Given the description of an element on the screen output the (x, y) to click on. 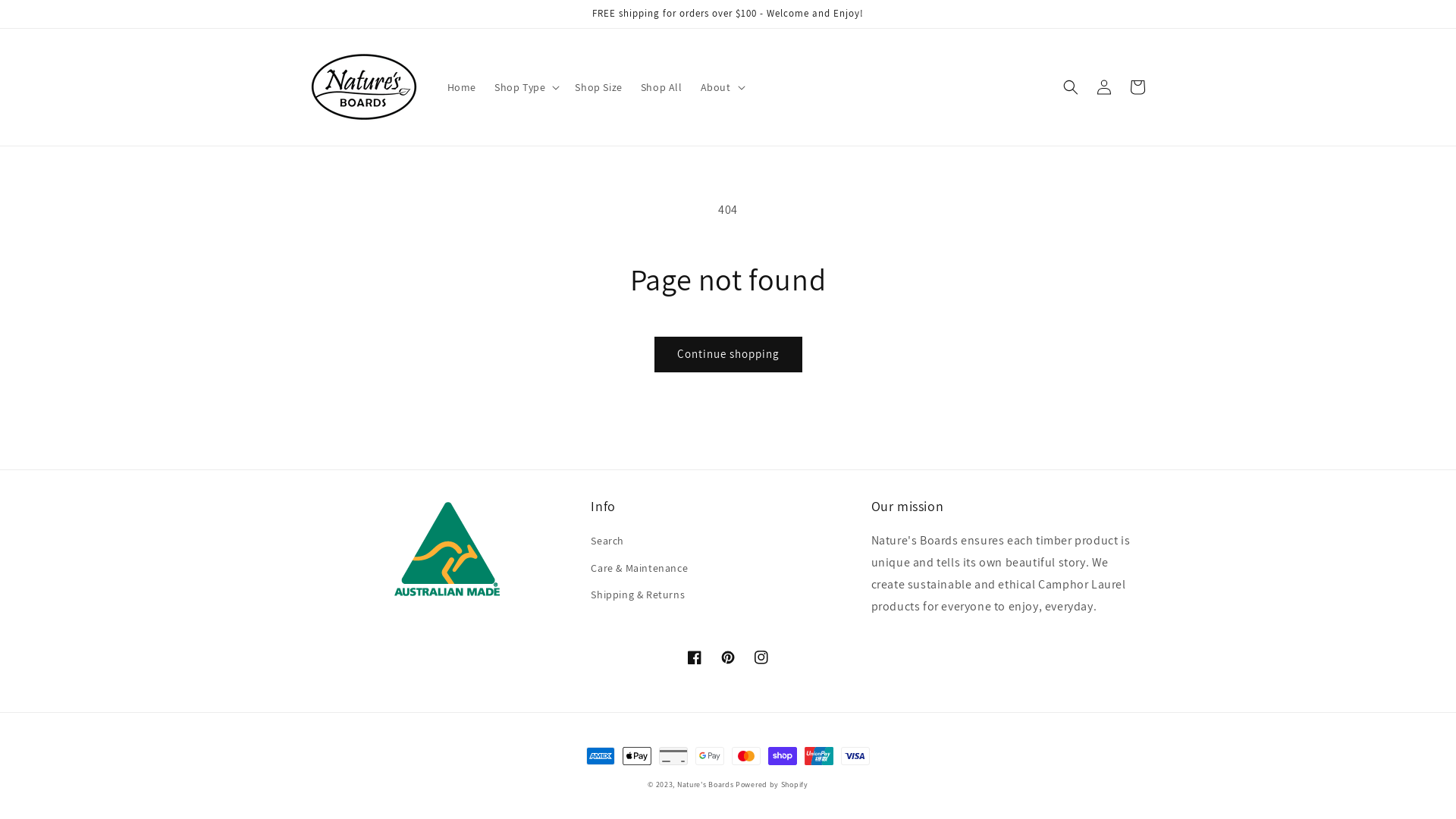
Facebook Element type: text (694, 657)
Instagram Element type: text (761, 657)
Cart Element type: text (1137, 86)
Log in Element type: text (1103, 86)
Shipping & Returns Element type: text (637, 594)
Shop Size Element type: text (597, 87)
Powered by Shopify Element type: text (771, 784)
Nature's Boards Element type: text (705, 784)
Home Element type: text (461, 87)
Search Element type: text (607, 542)
Care & Maintenance Element type: text (638, 568)
Continue shopping Element type: text (727, 354)
Shop All Element type: text (661, 87)
Pinterest Element type: text (727, 657)
